Given the description of an element on the screen output the (x, y) to click on. 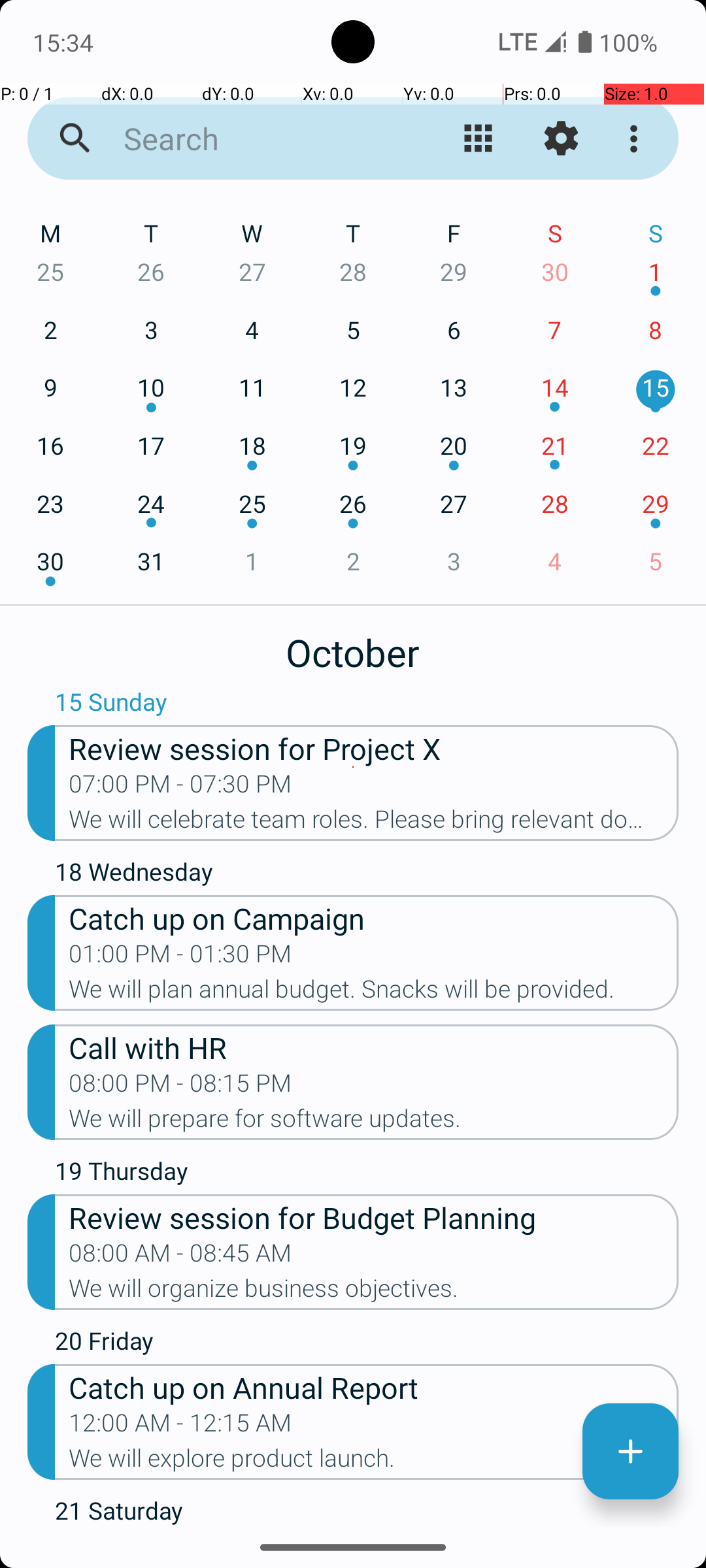
18 Wednesday Element type: android.widget.TextView (366, 874)
19 Thursday Element type: android.widget.TextView (366, 1173)
20 Friday Element type: android.widget.TextView (366, 1343)
21 Saturday Element type: android.widget.TextView (366, 1509)
07:00 PM - 07:30 PM Element type: android.widget.TextView (179, 787)
We will celebrate team roles. Please bring relevant documents. Element type: android.widget.TextView (373, 822)
Catch up on Campaign Element type: android.widget.TextView (373, 917)
01:00 PM - 01:30 PM Element type: android.widget.TextView (179, 957)
We will plan annual budget. Snacks will be provided. Element type: android.widget.TextView (373, 992)
Call with HR Element type: android.widget.TextView (373, 1046)
08:00 PM - 08:15 PM Element type: android.widget.TextView (179, 1086)
We will prepare for software updates. Element type: android.widget.TextView (373, 1122)
08:00 AM - 08:45 AM Element type: android.widget.TextView (179, 1256)
We will organize business objectives. Element type: android.widget.TextView (373, 1291)
12:00 AM - 12:15 AM Element type: android.widget.TextView (179, 1426)
We will explore product launch. Element type: android.widget.TextView (373, 1461)
